Given the description of an element on the screen output the (x, y) to click on. 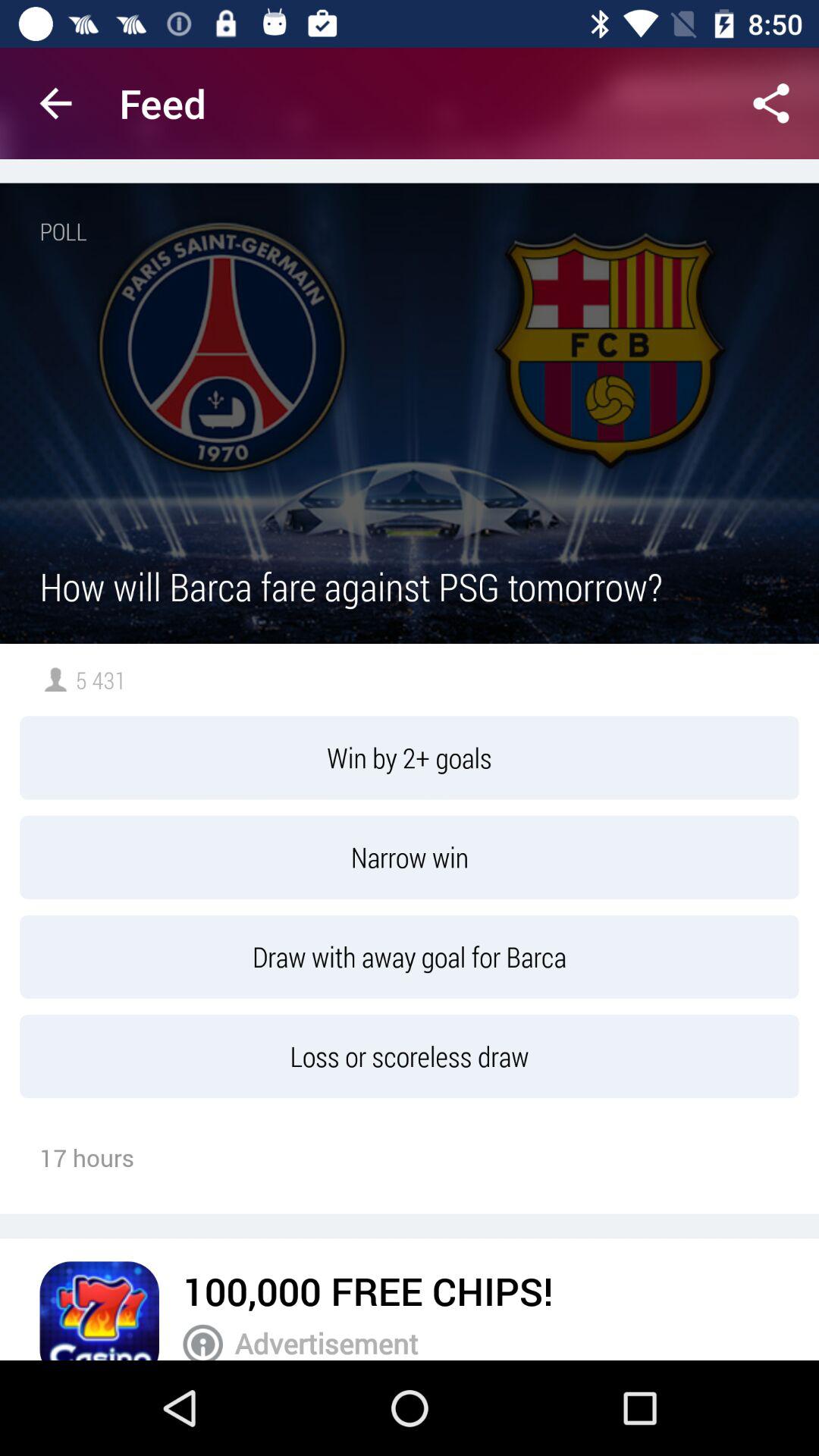
follow the advertisement link (99, 1310)
